Given the description of an element on the screen output the (x, y) to click on. 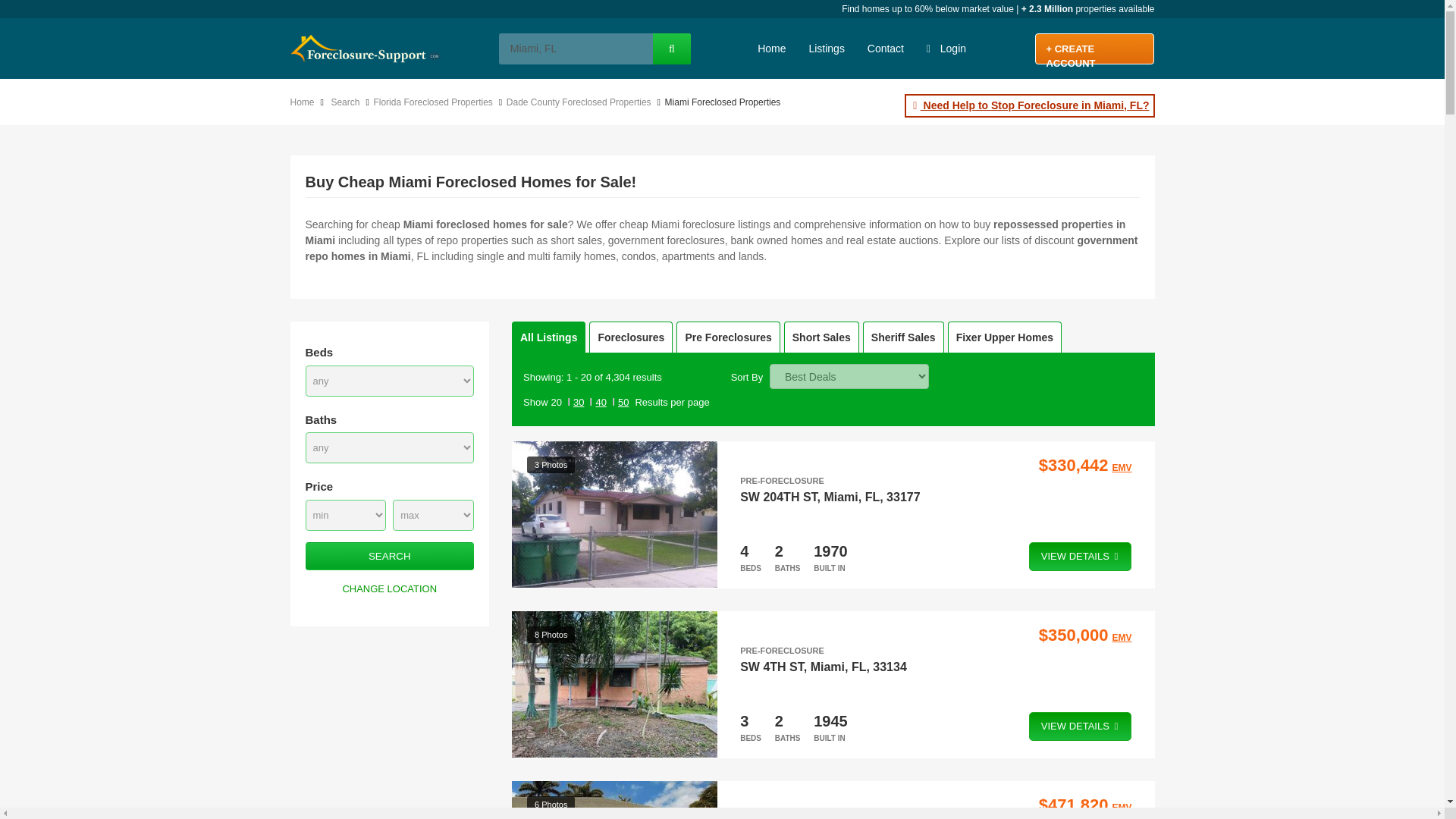
Sheriff Sales (903, 336)
All Listings (548, 336)
Pre Foreclosures (727, 336)
VIEW DETAILS (1080, 556)
CHANGE LOCATION (389, 588)
Dade County Foreclosed Properties (582, 102)
Home (304, 102)
8 Photos (614, 684)
Short Sales (821, 336)
3 Photos (614, 514)
Login (946, 48)
SEARCH (389, 555)
Foreclosures (630, 336)
Miami, FL (574, 47)
SW 204TH ST (777, 495)
